Given the description of an element on the screen output the (x, y) to click on. 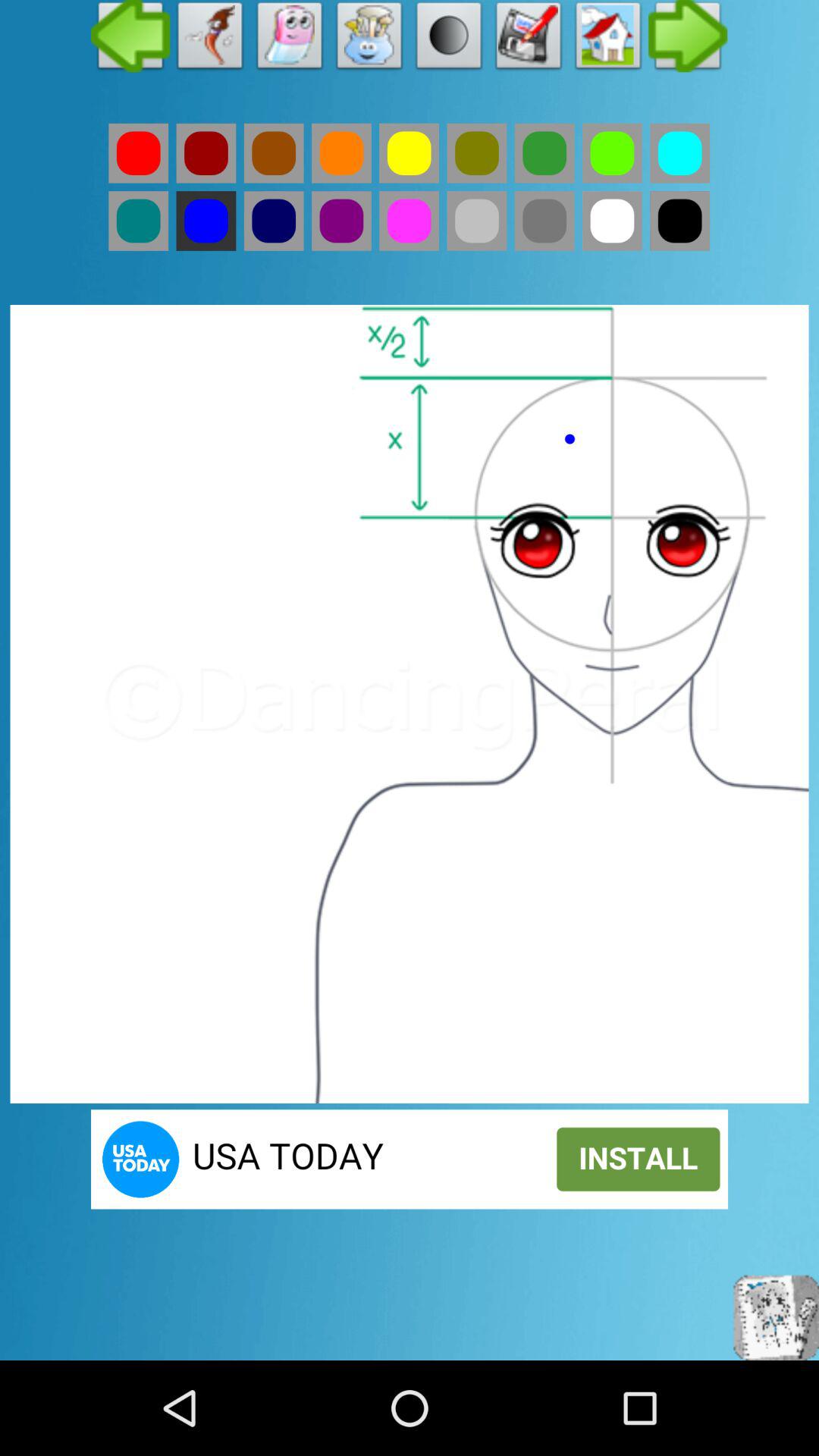
pick blue (206, 220)
